Given the description of an element on the screen output the (x, y) to click on. 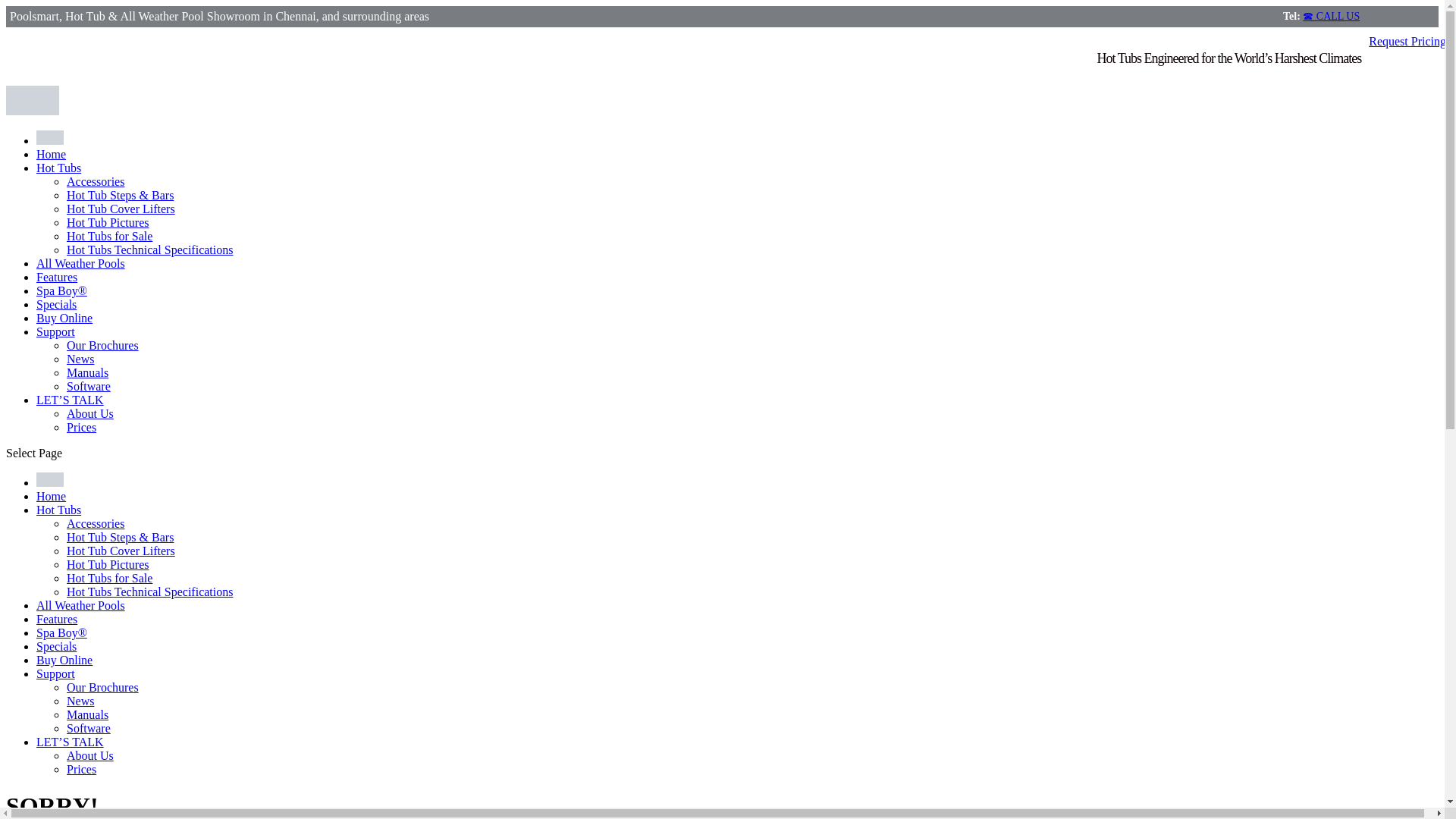
Home (50, 495)
Buy Online (64, 318)
Hot Tubs Technical Specifications (149, 591)
All Weather Pools (80, 604)
Manuals (86, 372)
Return to the home page (50, 154)
Hot Tub Pictures (107, 563)
Accessories (94, 181)
Hot Tubs (58, 167)
Request Pricing (1406, 41)
Support (55, 331)
Features (56, 618)
Accessories (94, 522)
Hot Tubs for Sale (109, 236)
Hot Tubs Technical Specifications (149, 249)
